Given the description of an element on the screen output the (x, y) to click on. 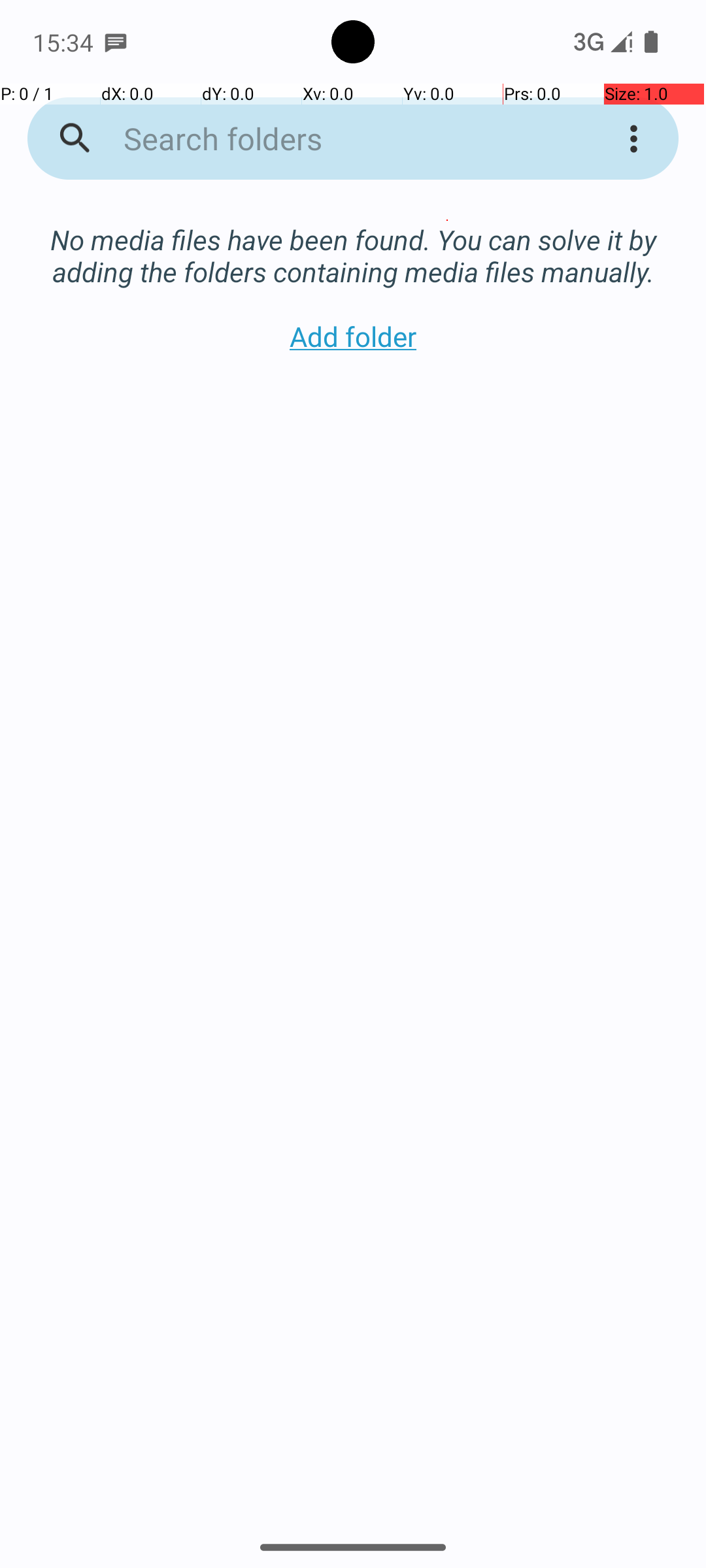
No media files have been found. You can solve it by adding the folders containing media files manually. Element type: android.widget.TextView (353, 241)
Add folder Element type: android.widget.TextView (352, 336)
Search folders Element type: android.widget.EditText (335, 138)
